Given the description of an element on the screen output the (x, y) to click on. 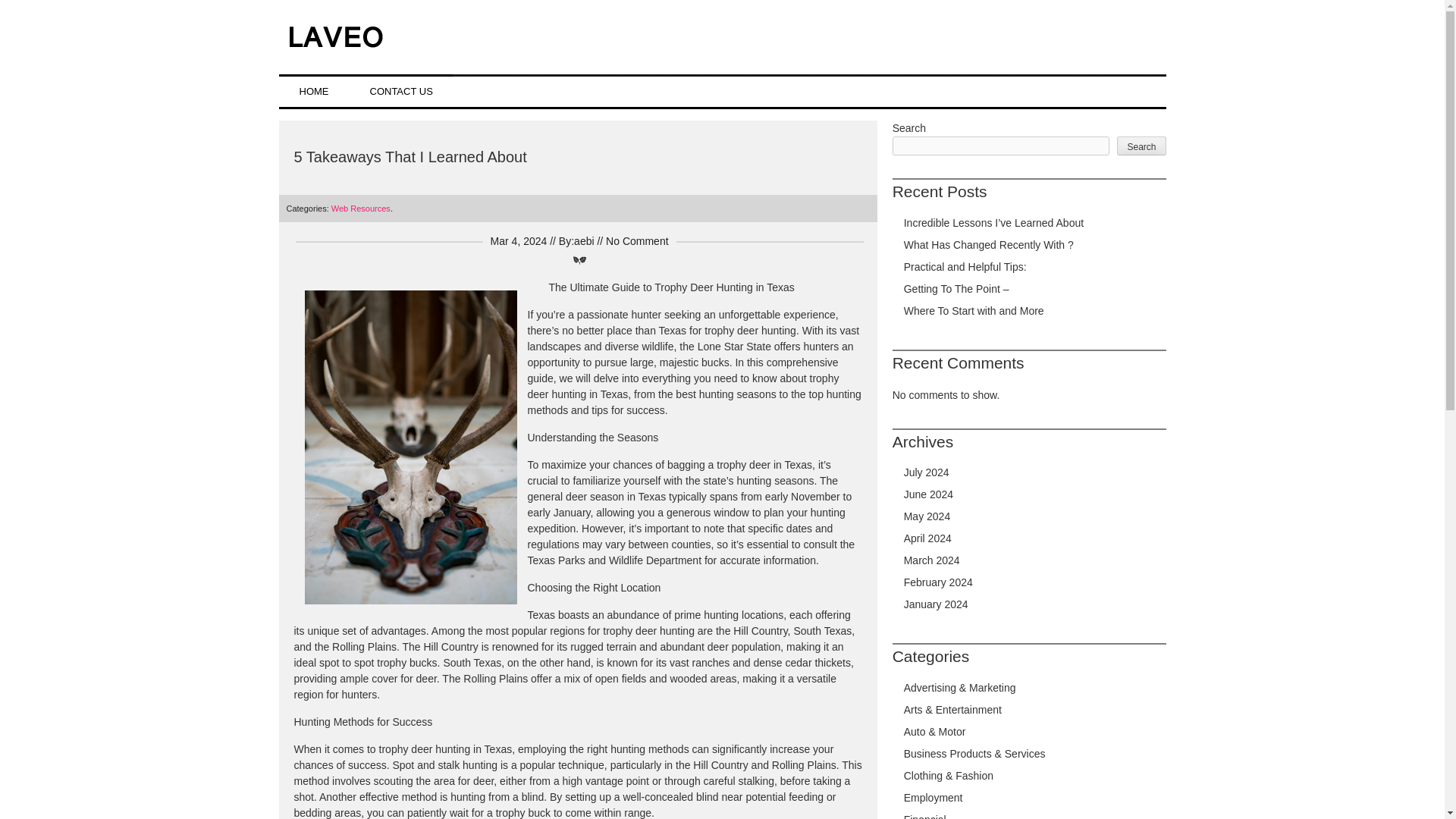
What Has Changed Recently With ? (989, 244)
CONTACT US (400, 90)
April 2024 (928, 538)
March 2024 (931, 560)
January 2024 (936, 604)
Search (1141, 146)
Where To Start with and More (973, 310)
May 2024 (927, 516)
February 2024 (938, 582)
Practical and Helpful Tips: (965, 266)
Employment (933, 797)
July 2024 (926, 472)
Web Resources (360, 207)
June 2024 (928, 494)
Financial (925, 816)
